Given the description of an element on the screen output the (x, y) to click on. 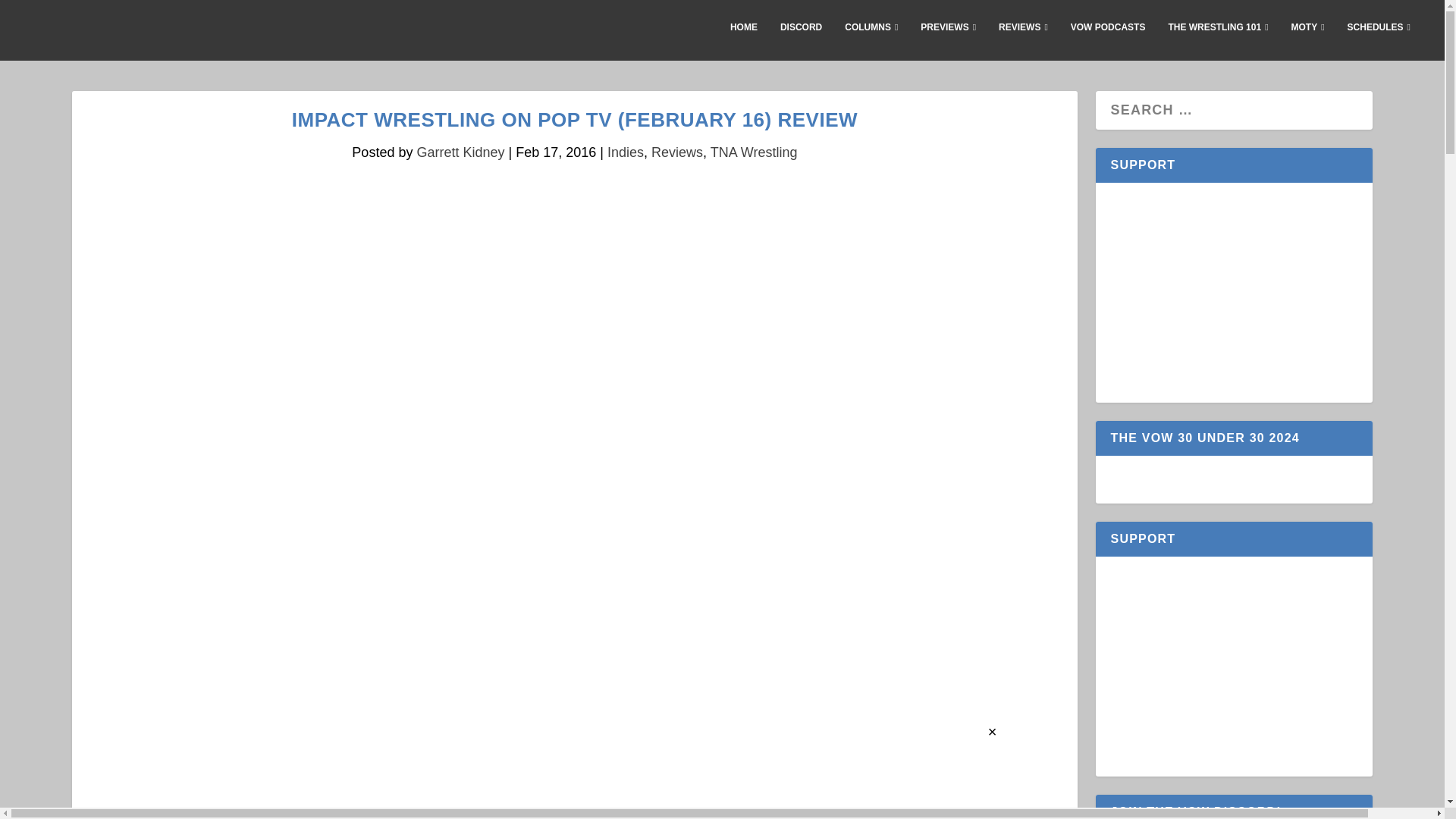
THE WRESTLING 101 (1217, 39)
DISCORD (801, 39)
Posts by Garrett Kidney (459, 151)
PREVIEWS (947, 39)
COLUMNS (871, 39)
REVIEWS (1023, 39)
VOW PODCASTS (1107, 39)
